Given the description of an element on the screen output the (x, y) to click on. 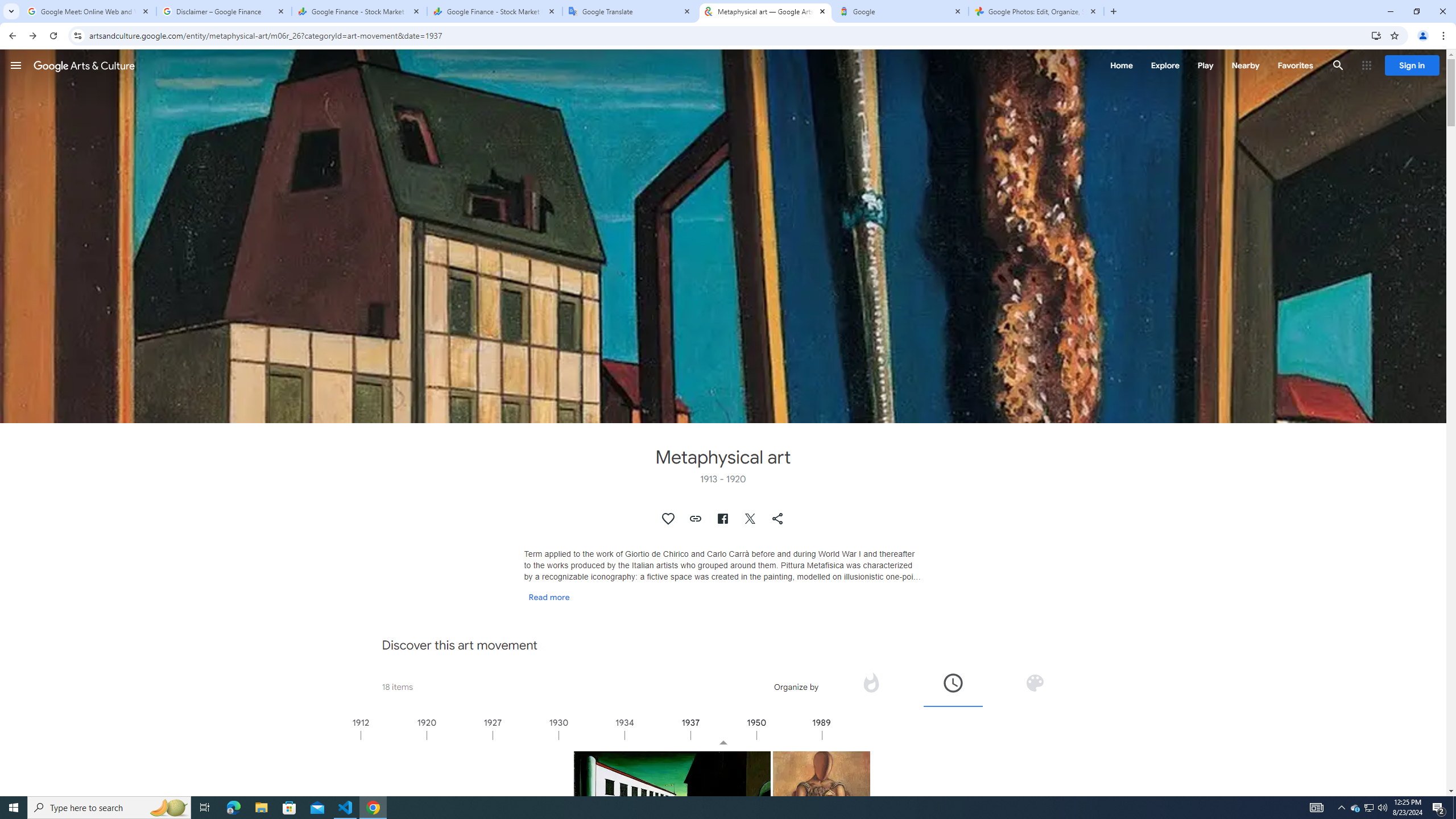
1950 (788, 734)
Play (1205, 65)
Share on Facebook (722, 518)
1937 (723, 734)
1927 (525, 734)
Google (901, 11)
Read more (549, 596)
Organize by popularity (870, 682)
